Given the description of an element on the screen output the (x, y) to click on. 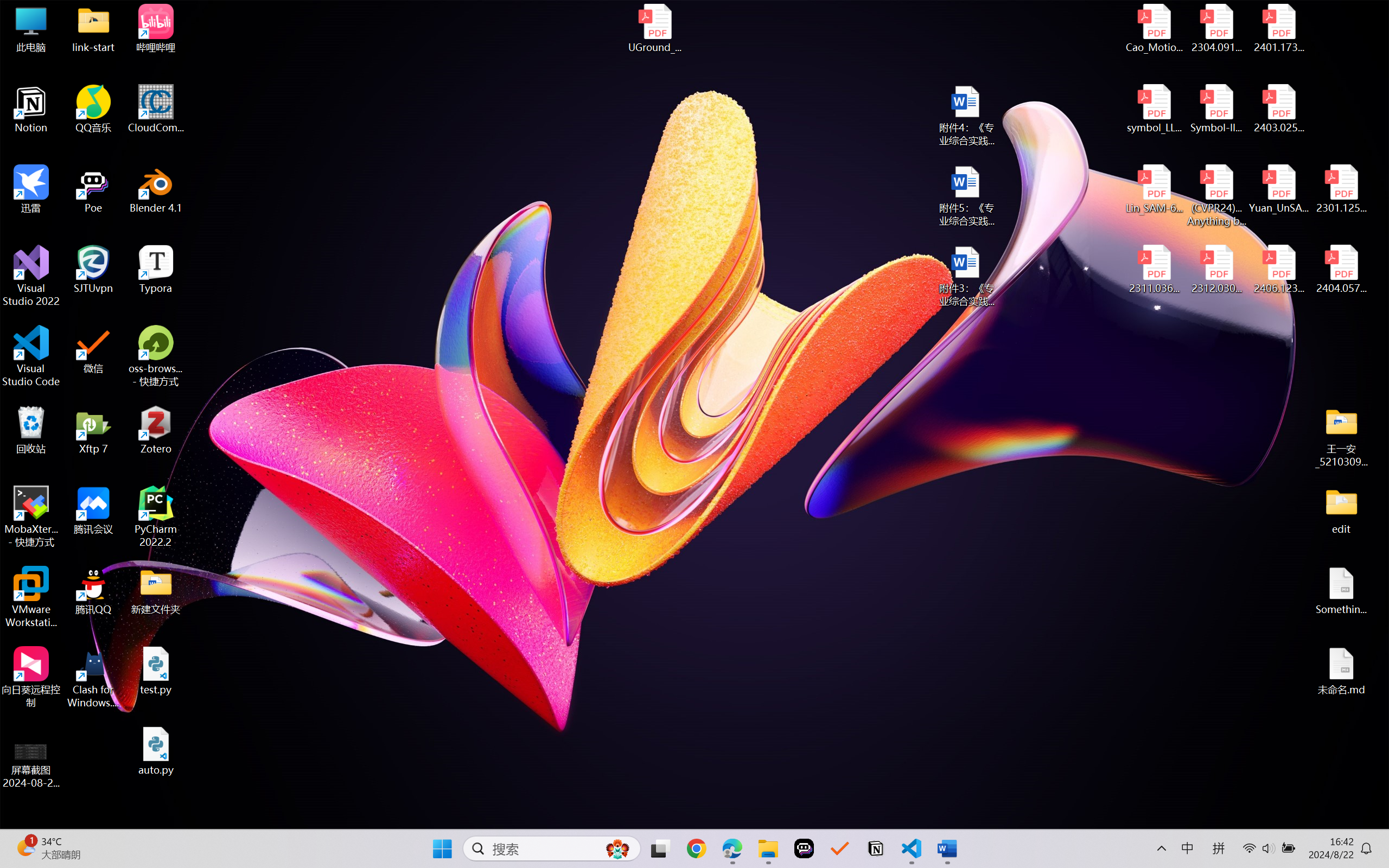
2304.09121v3.pdf (1216, 28)
test.py (156, 670)
auto.py (156, 751)
edit (1340, 510)
UGround_paper.pdf (654, 28)
2312.03032v2.pdf (1216, 269)
